Given the description of an element on the screen output the (x, y) to click on. 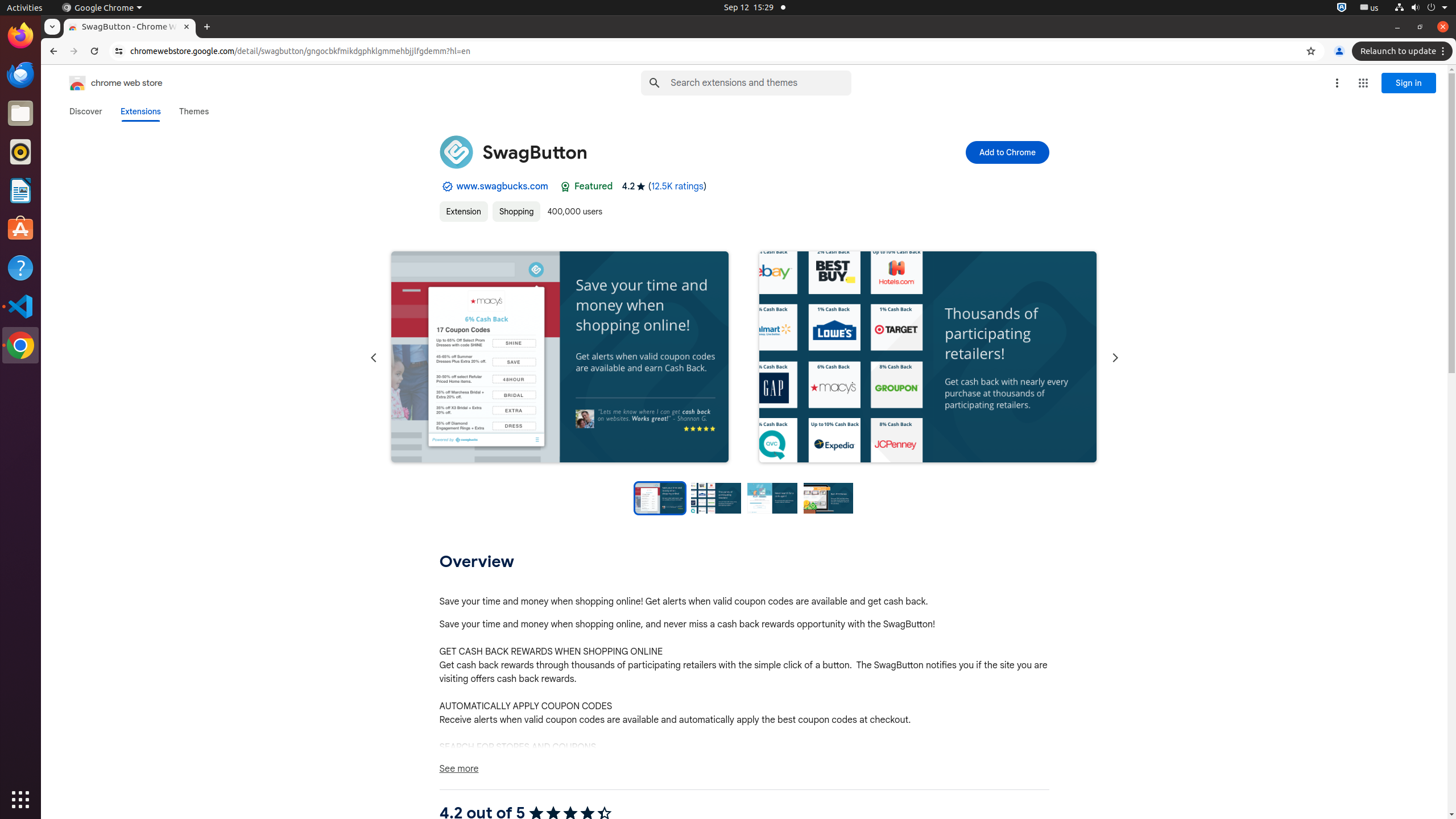
Preview slide 1 Element type: push-button (659, 498)
Extensions Element type: page-tab (140, 111)
Files Element type: push-button (20, 113)
View site information Element type: push-button (118, 51)
Relaunch to update Element type: push-button (1403, 50)
